Given the description of an element on the screen output the (x, y) to click on. 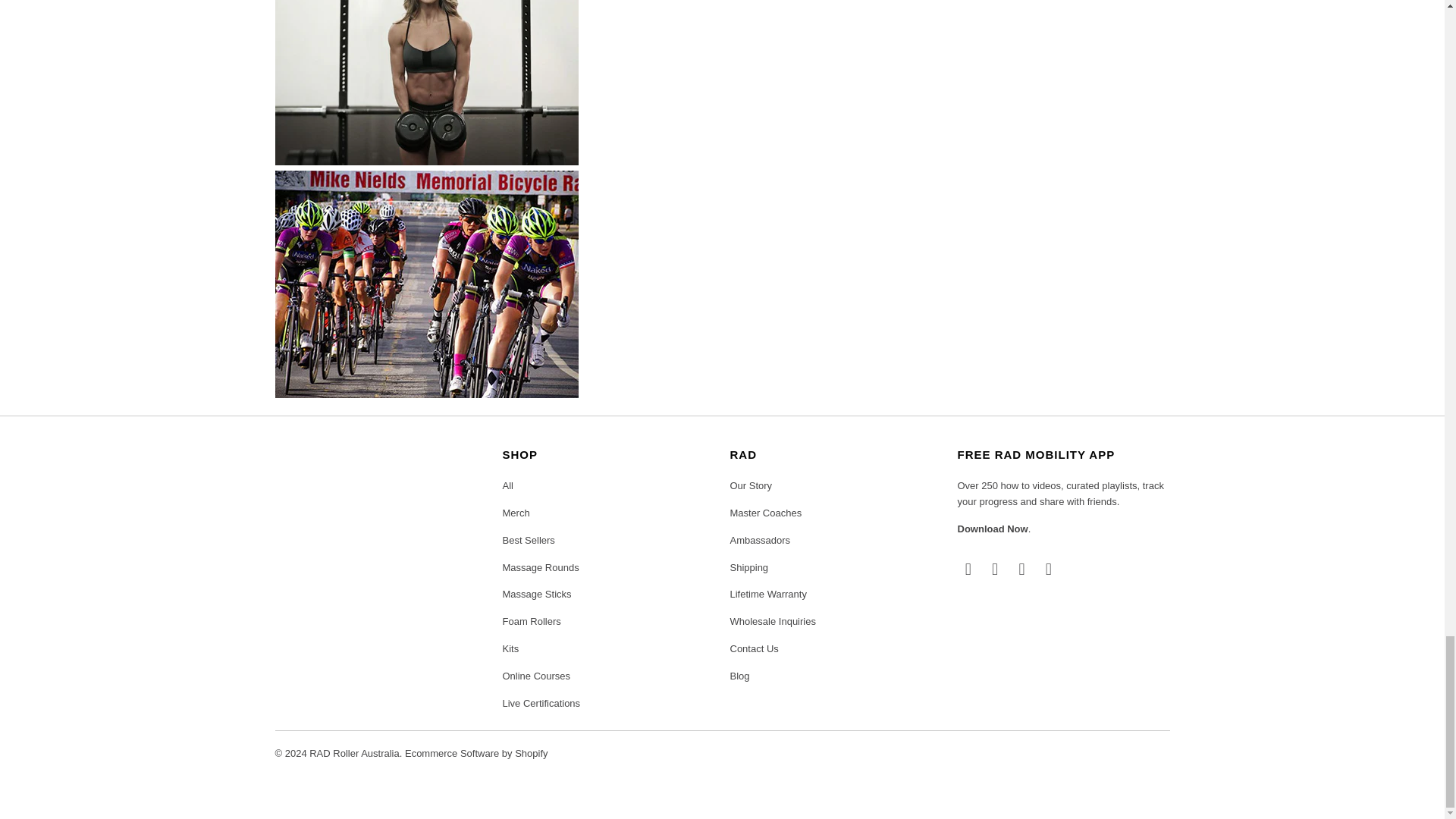
RAD Roller Australia on Facebook (967, 569)
RAD Roller Australia on Instagram (1021, 569)
RAD Roller Australia on YouTube (995, 569)
Email RAD Roller Australia (1047, 569)
